Given the description of an element on the screen output the (x, y) to click on. 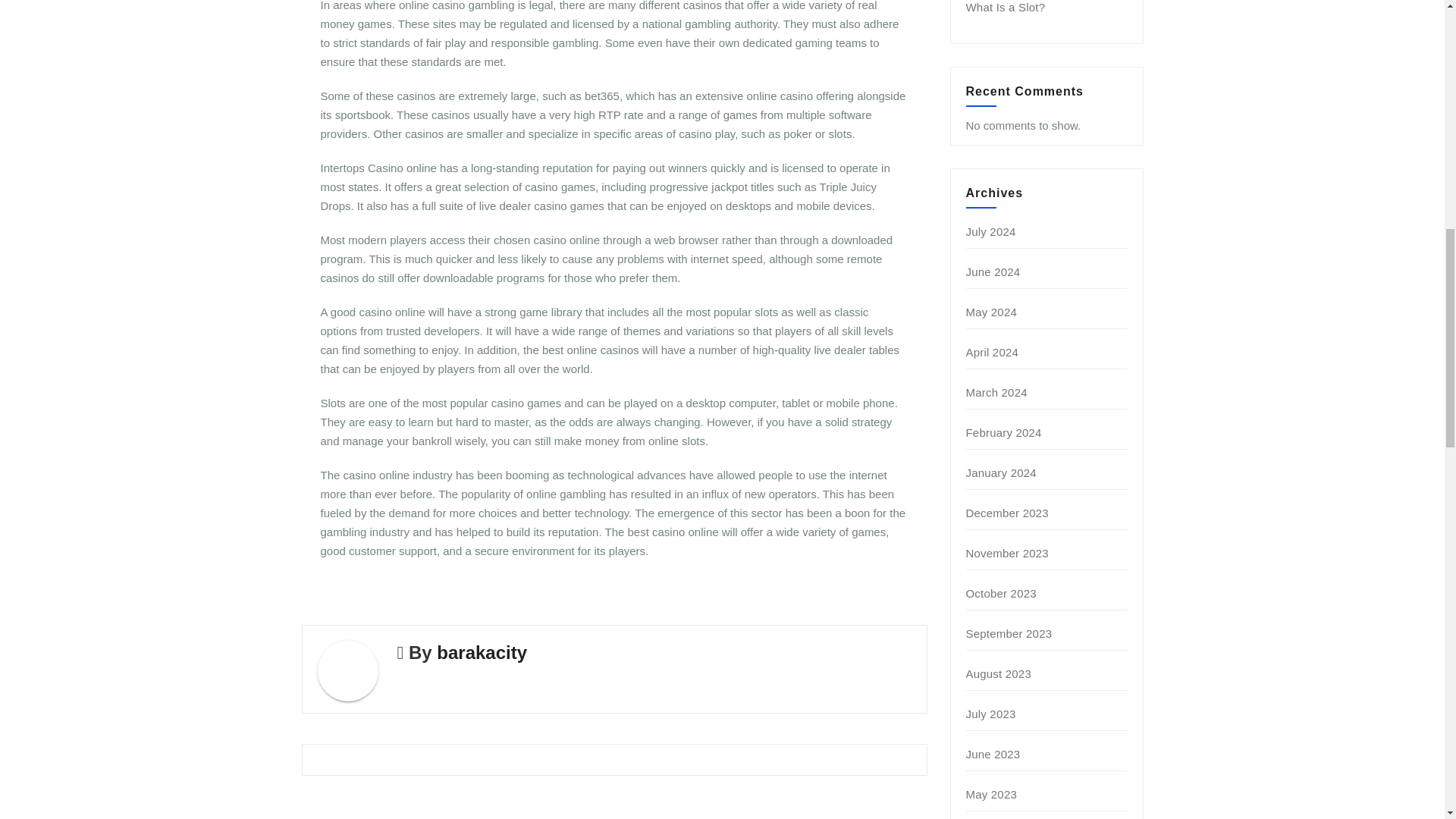
July 2024 (991, 231)
December 2023 (1007, 512)
July 2023 (991, 713)
September 2023 (1009, 633)
June 2023 (993, 753)
February 2024 (1004, 431)
barakacity (481, 652)
March 2024 (996, 391)
August 2023 (998, 673)
October 2023 (1001, 593)
January 2024 (1001, 472)
May 2023 (991, 793)
November 2023 (1007, 553)
June 2024 (993, 271)
April 2024 (992, 351)
